Given the description of an element on the screen output the (x, y) to click on. 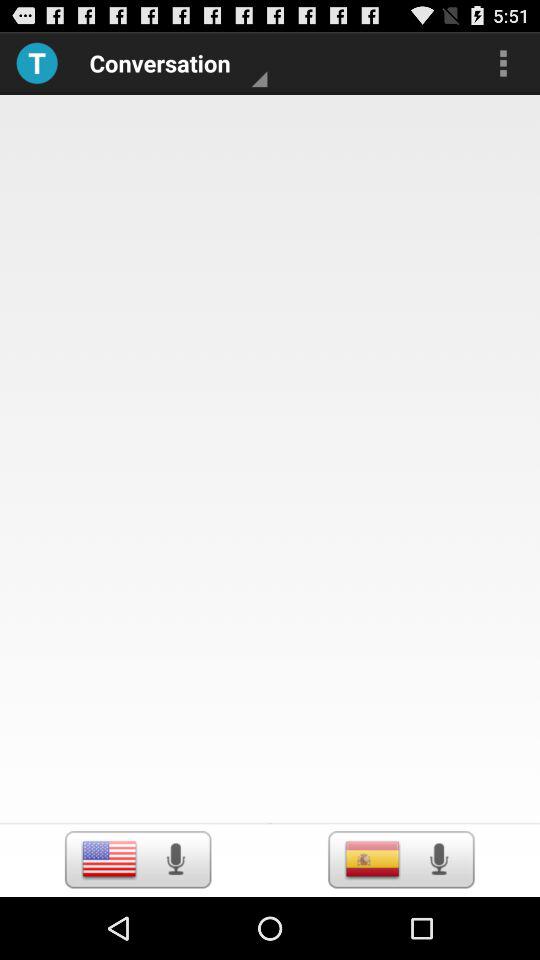
select american english as language (108, 859)
